Given the description of an element on the screen output the (x, y) to click on. 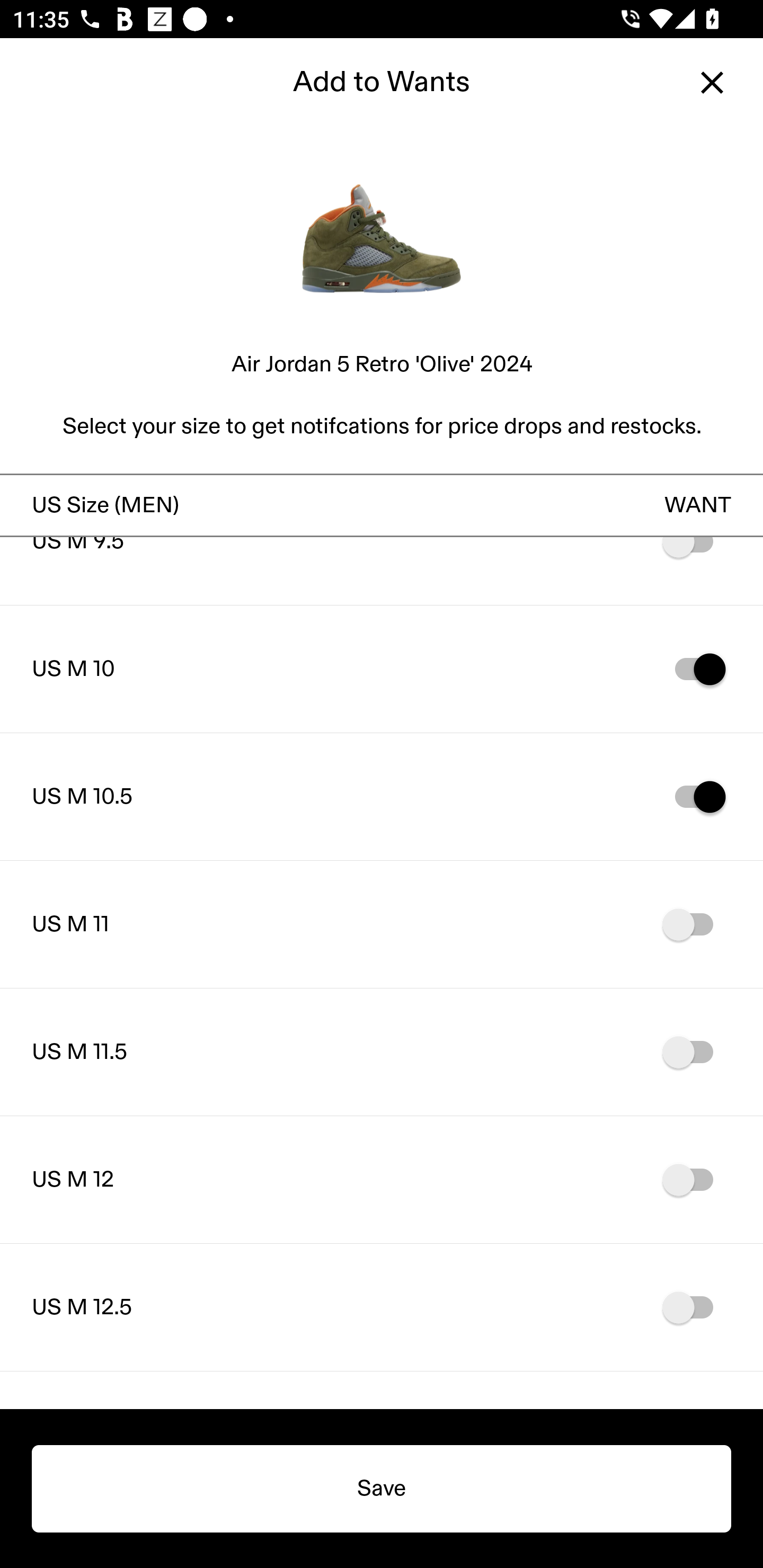
Save (381, 1488)
